Given the description of an element on the screen output the (x, y) to click on. 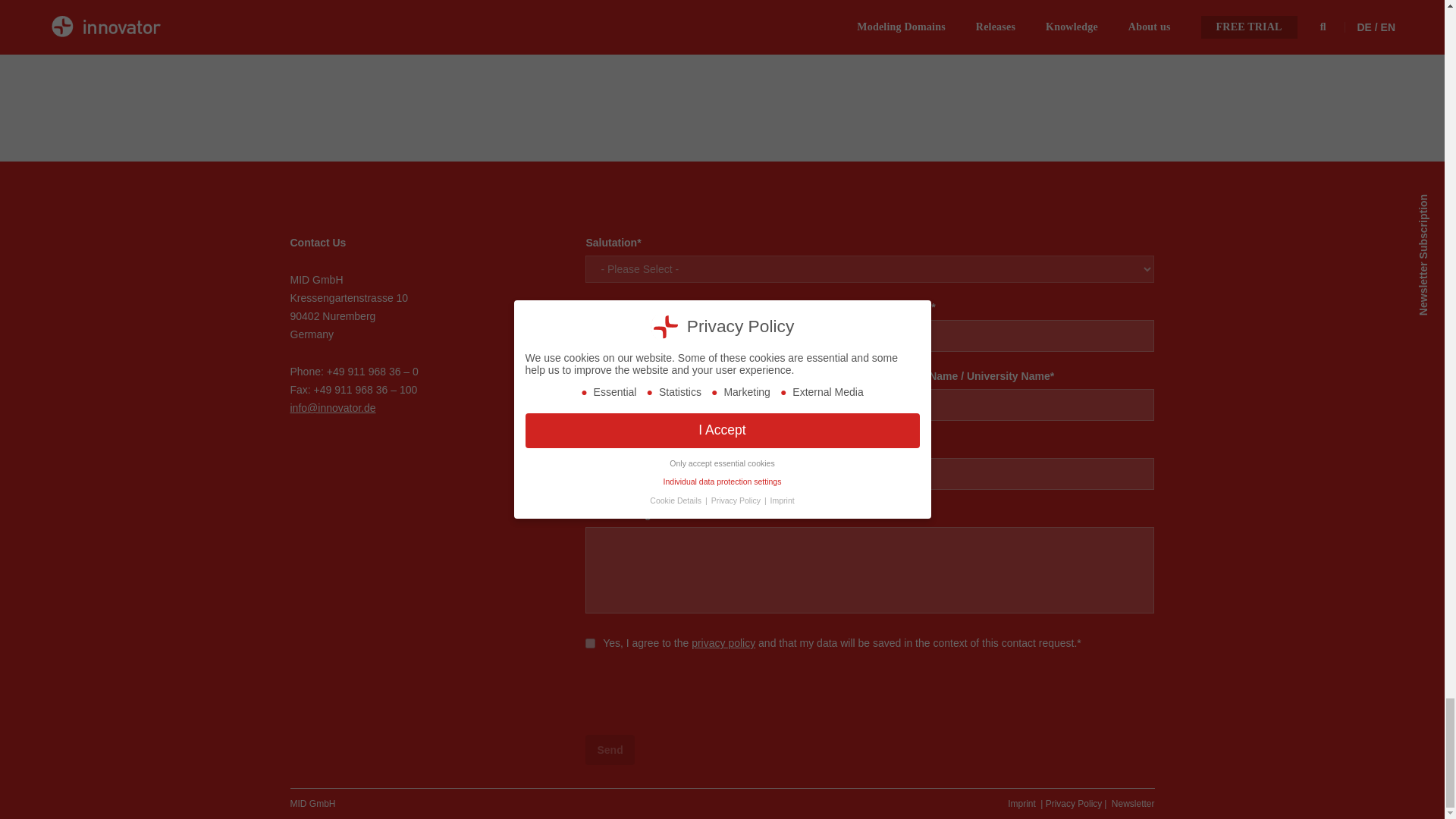
Send (609, 749)
1 (590, 643)
